Given the description of an element on the screen output the (x, y) to click on. 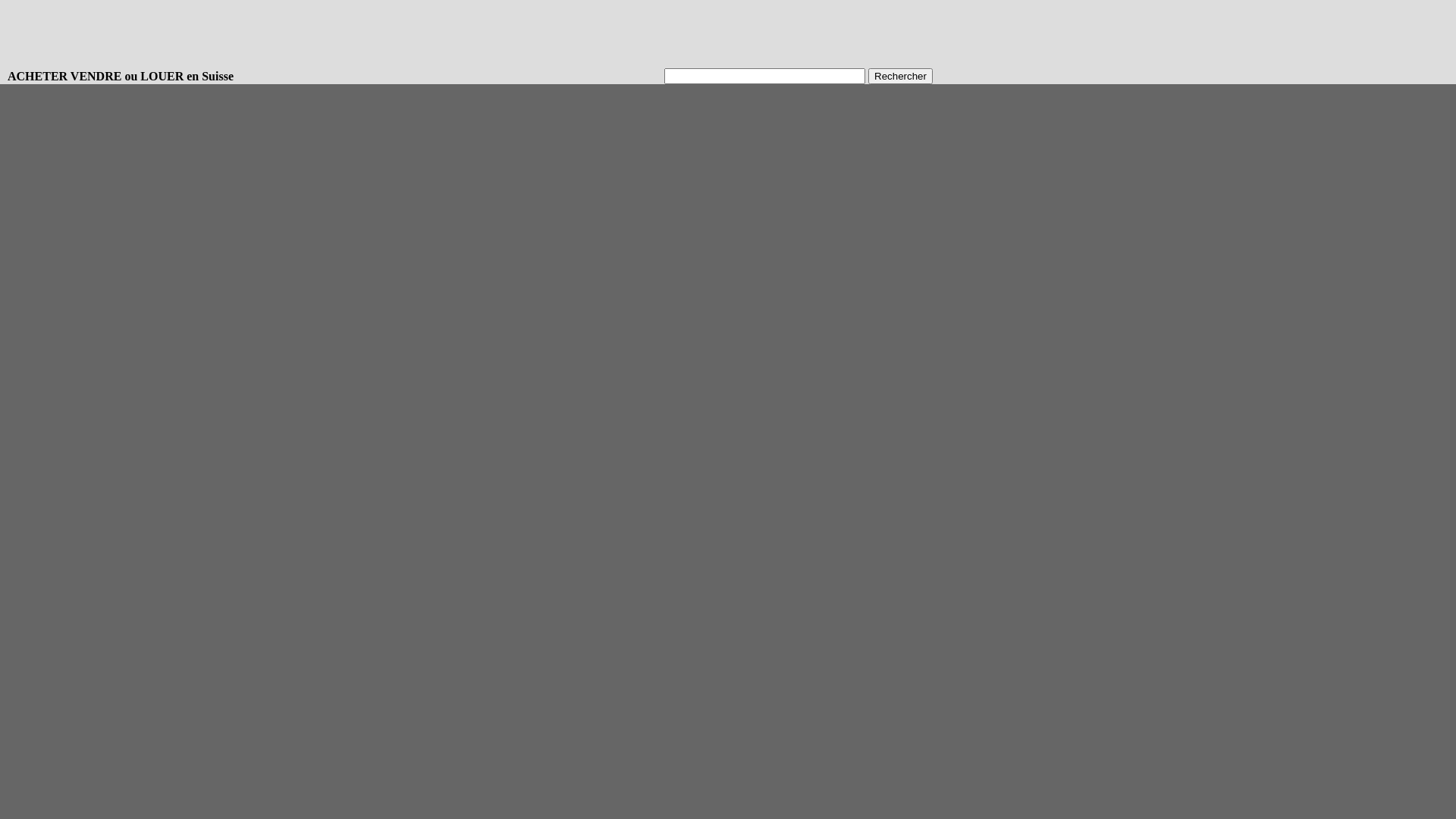
Rechercher Element type: text (900, 76)
Advertisement Element type: hover (283, 34)
